Given the description of an element on the screen output the (x, y) to click on. 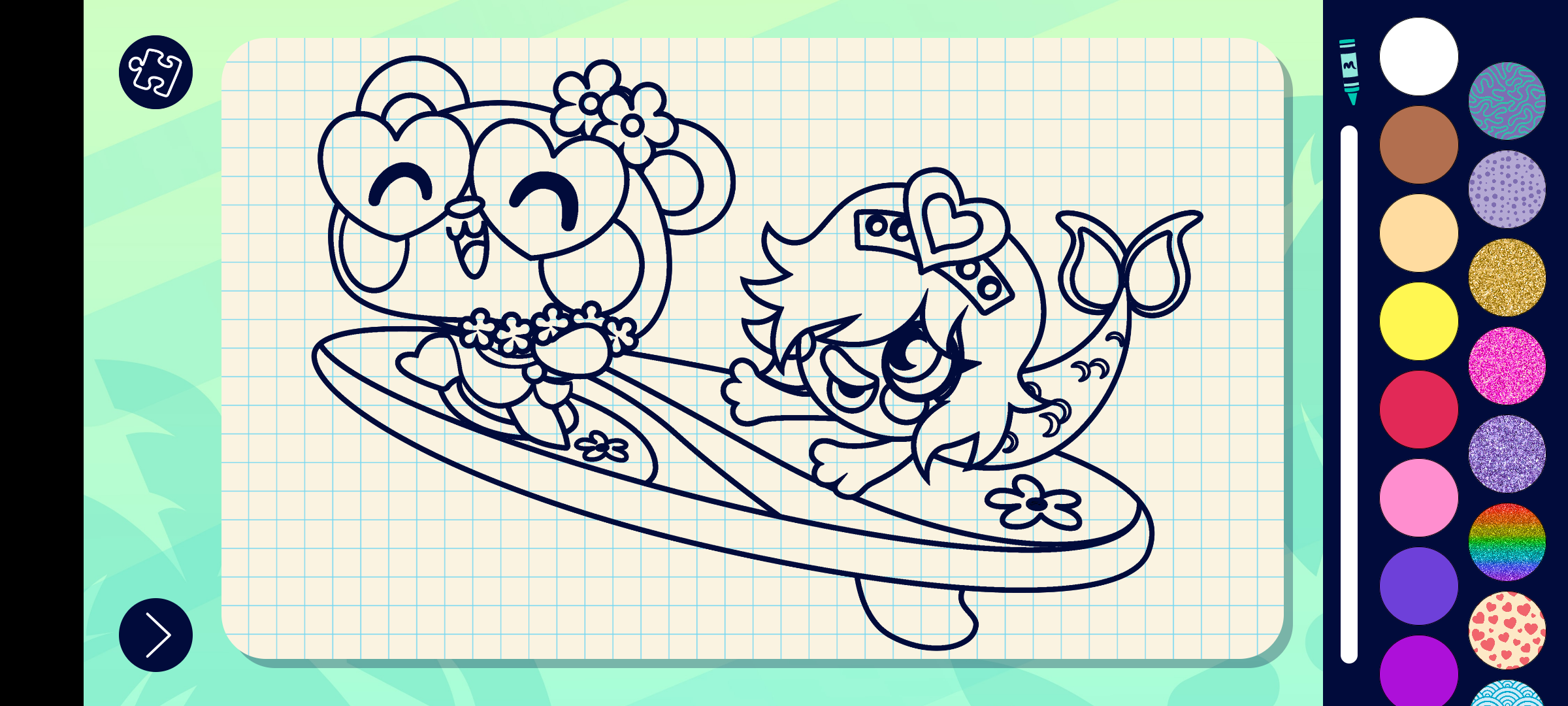
coloring background (1507, 101)
coloring background (1507, 189)
coloring background (1507, 277)
coloring background (1507, 365)
coloring background (1507, 454)
coloring background (1507, 542)
coloring background (1507, 630)
